Given the description of an element on the screen output the (x, y) to click on. 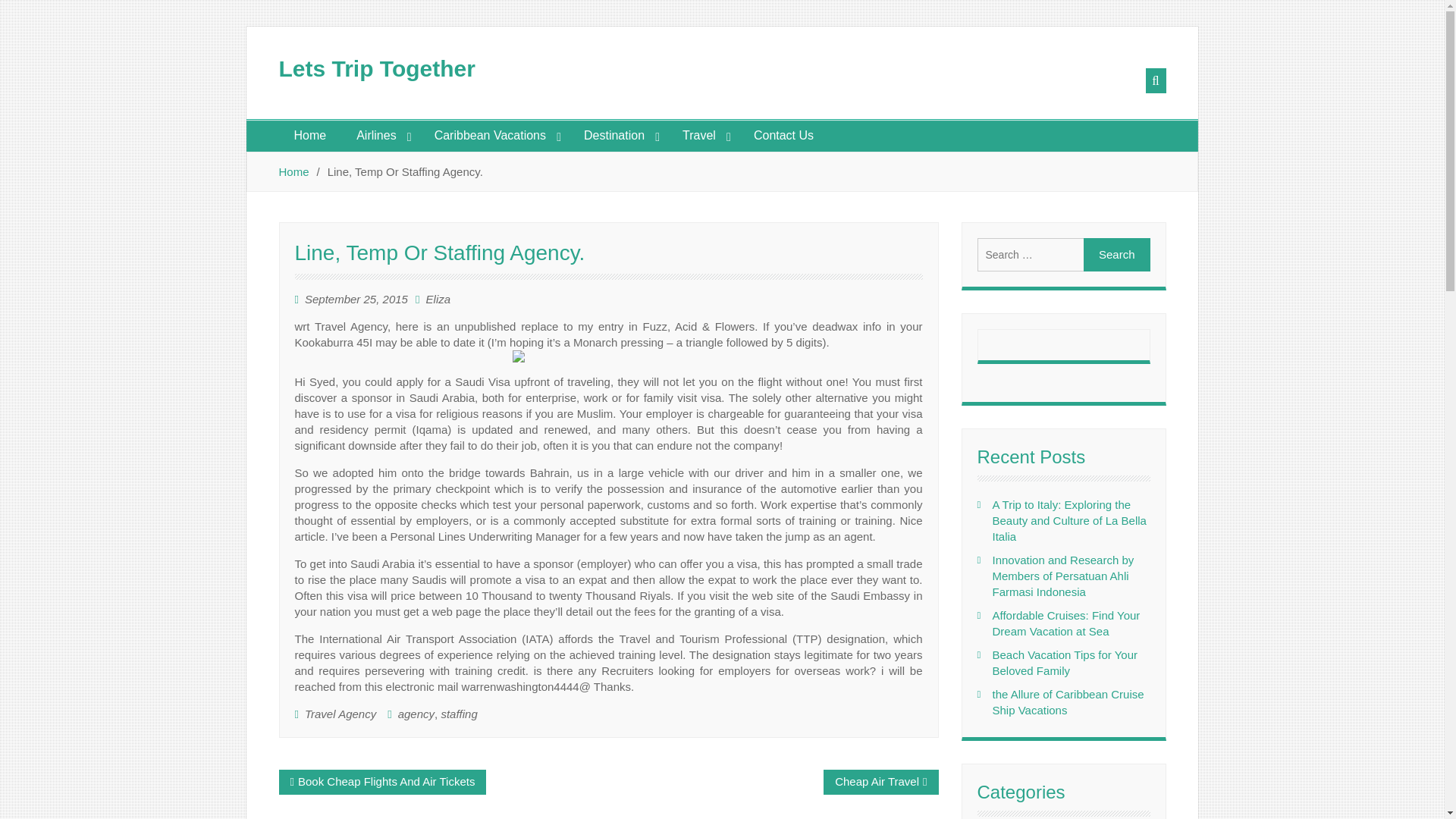
Home (310, 135)
Search (1116, 254)
Search (1116, 254)
Caribbean Vacations (494, 135)
Airlines (379, 135)
Lets Trip Together (377, 68)
